Given the description of an element on the screen output the (x, y) to click on. 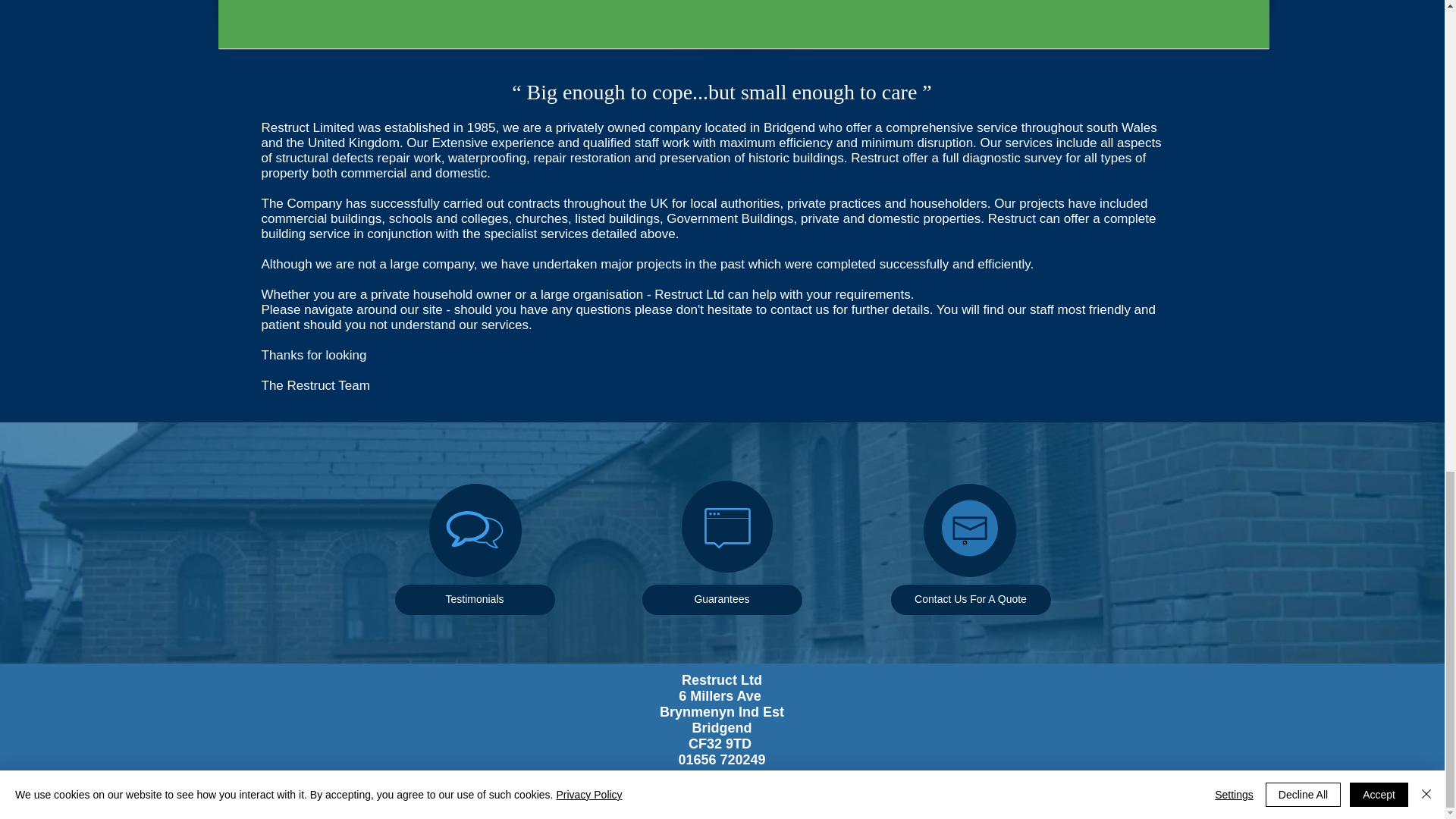
Contact Us For A Quote (969, 599)
Testimonials (474, 599)
Guarantees (722, 599)
